Given the description of an element on the screen output the (x, y) to click on. 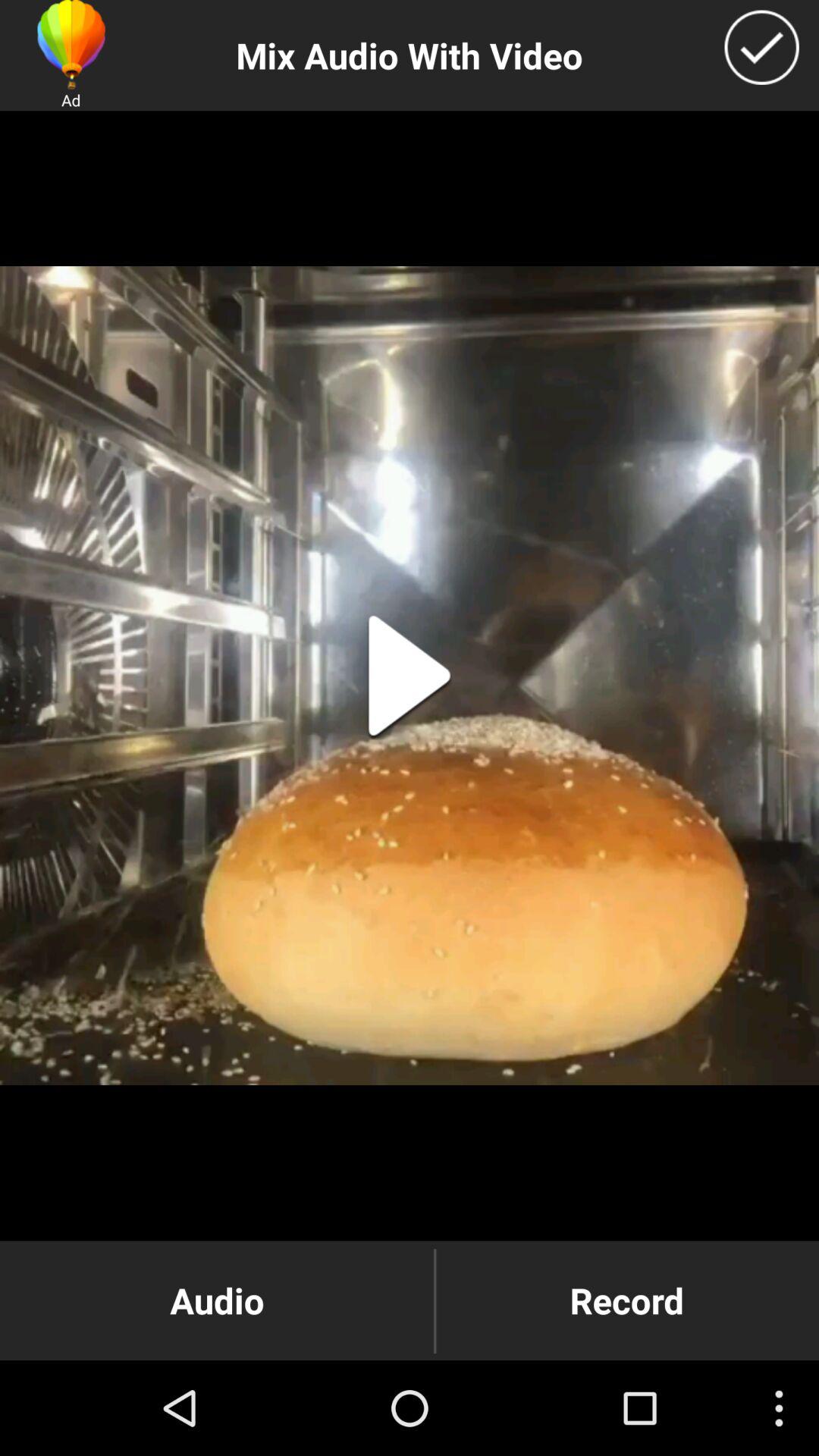
go to play (409, 675)
